Given the description of an element on the screen output the (x, y) to click on. 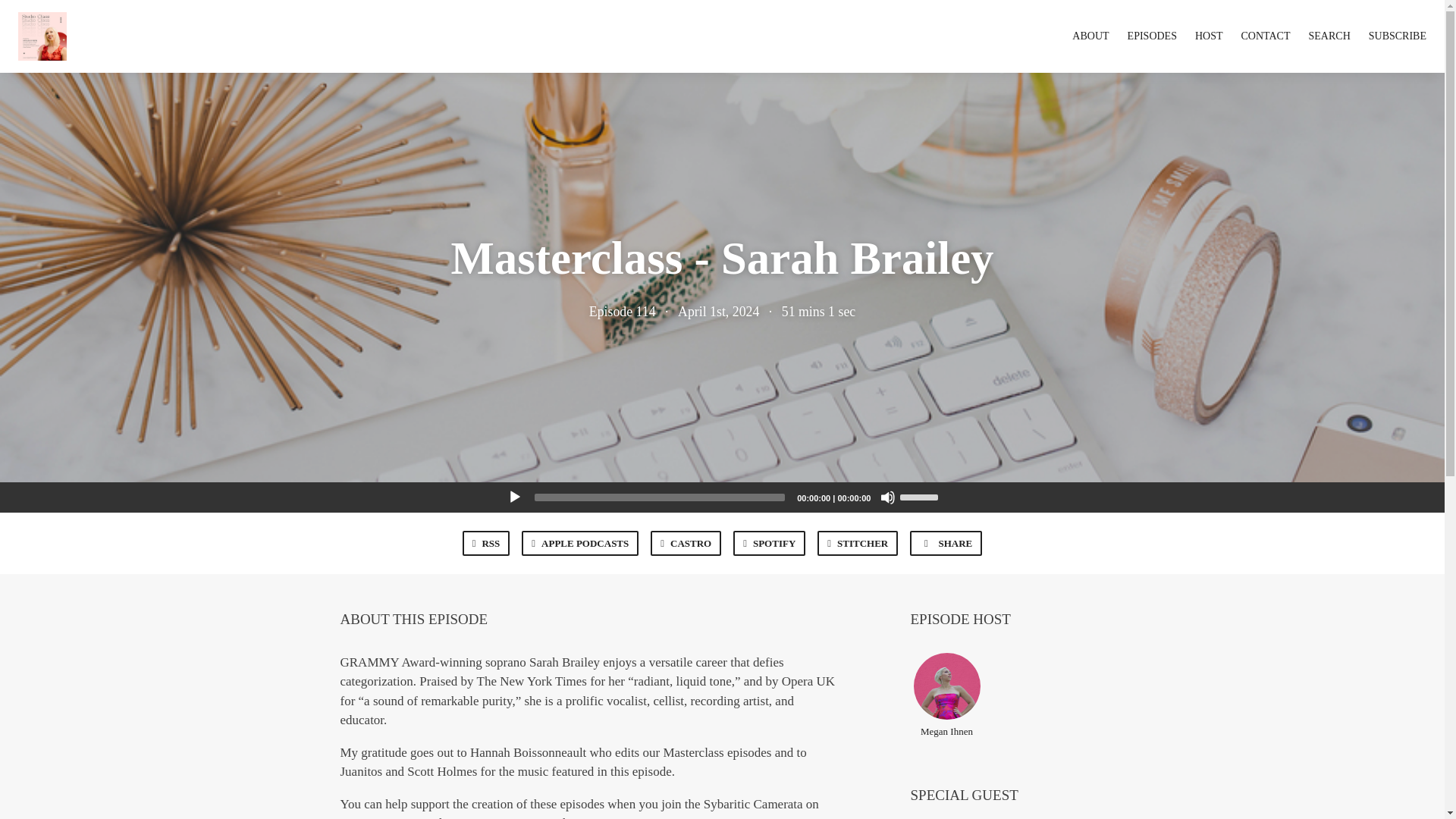
SPOTIFY (769, 543)
SEARCH (1329, 35)
ABOUT (1089, 35)
SHARE (945, 543)
APPLE PODCASTS (580, 543)
CONTACT (1265, 35)
Play (513, 497)
Mute (887, 497)
EPISODES (1151, 35)
HOST (1209, 35)
